Given the description of an element on the screen output the (x, y) to click on. 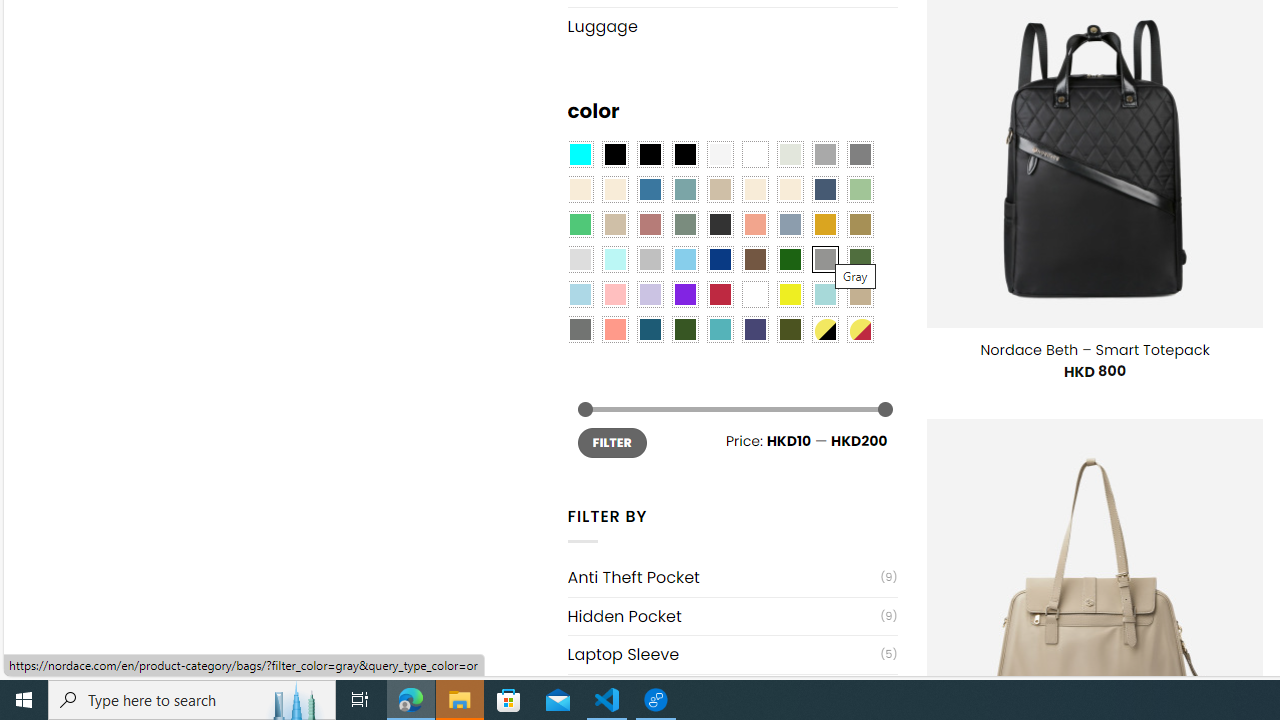
FILTER (612, 442)
Yellow (789, 295)
Mint (614, 259)
Capri Blue (650, 329)
Blue Sage (684, 190)
Black (650, 154)
Brown (755, 259)
All Black (614, 154)
Light Blue (579, 295)
Anti Theft Pocket(9) (732, 577)
Brownie (719, 190)
Blue (650, 190)
Purple Navy (755, 329)
Kelp (859, 224)
Emerald Green (579, 224)
